Given the description of an element on the screen output the (x, y) to click on. 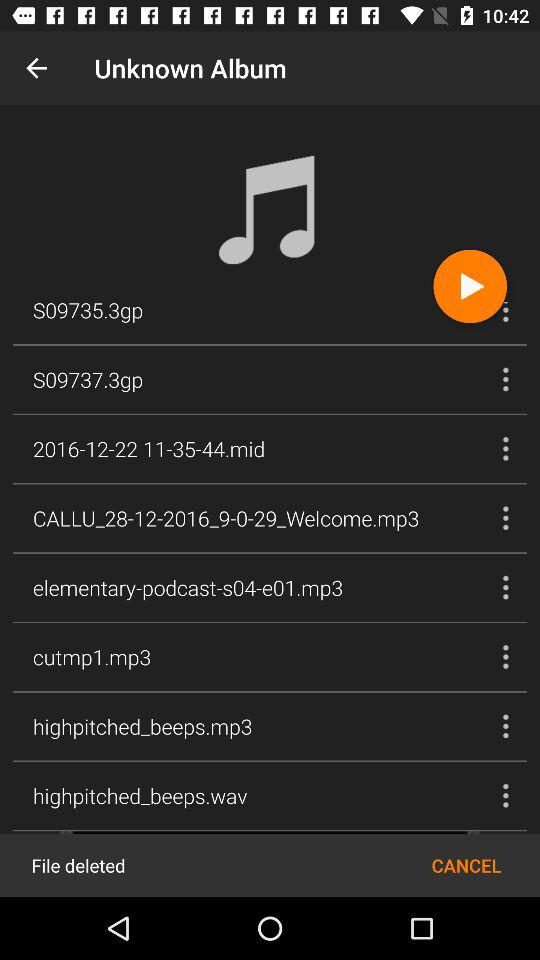
play (470, 286)
